Given the description of an element on the screen output the (x, y) to click on. 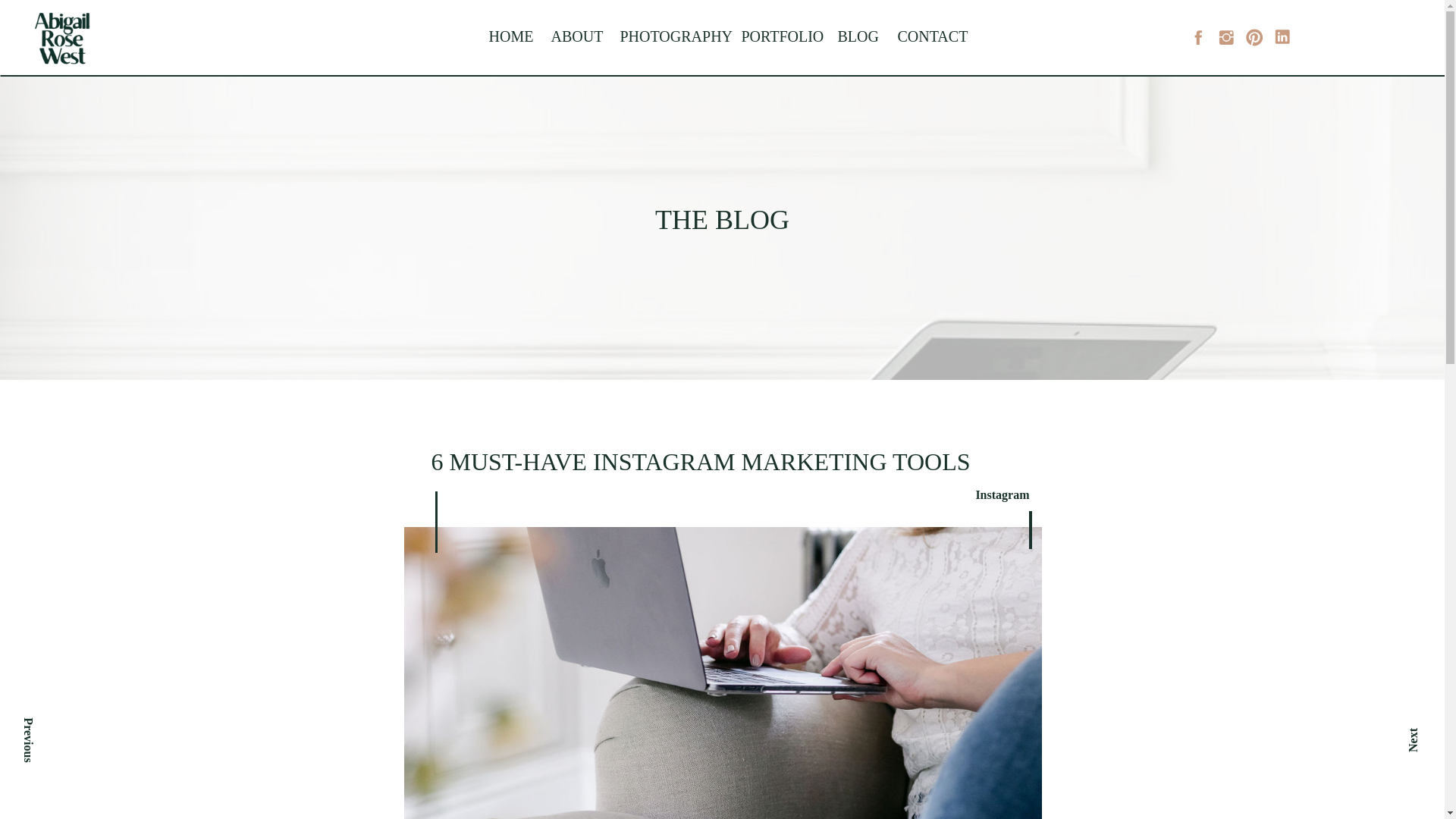
BLOG (856, 36)
PORTFOLIO (778, 36)
ABOUT (573, 36)
PHOTOGRAPHY (669, 36)
Previous (94, 672)
CONTACT (927, 36)
Instagram (1002, 494)
HOME (507, 36)
6 MUST-HAVE INSTAGRAM MARKETING TOOLS (699, 461)
